Given the description of an element on the screen output the (x, y) to click on. 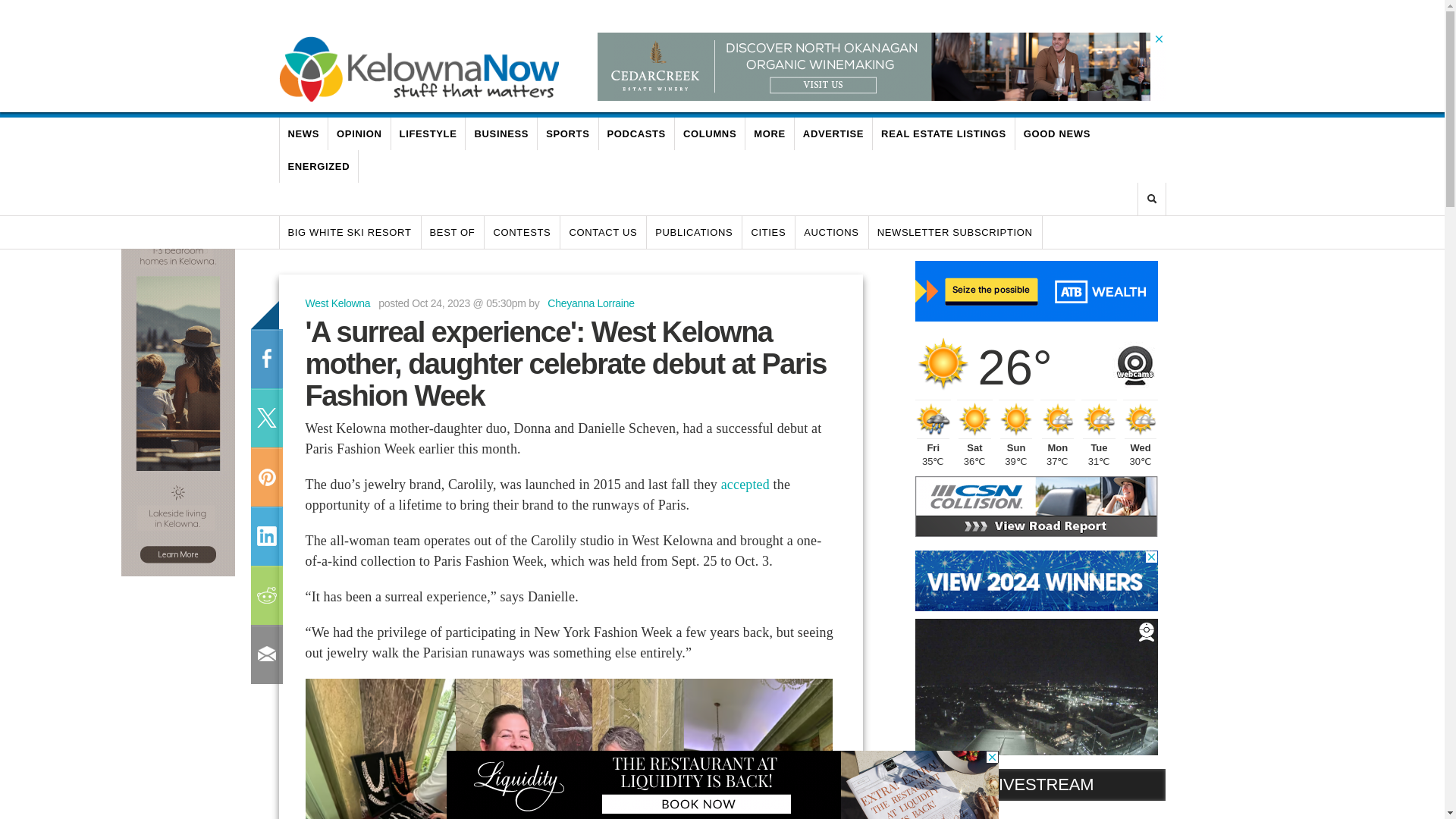
3rd party ad content (177, 386)
3rd party ad content (873, 66)
weather-icon (932, 418)
Share on Facebook (266, 358)
Share on Pintrest (266, 476)
Share on LinkedIn (266, 536)
3rd party ad content (1036, 291)
Weather (943, 362)
Share on Twitter (266, 417)
Share with email (266, 654)
weather-icon (1058, 418)
weather-icon (1015, 418)
KelownaNow (419, 68)
webcam icon (1134, 361)
